Given the description of an element on the screen output the (x, y) to click on. 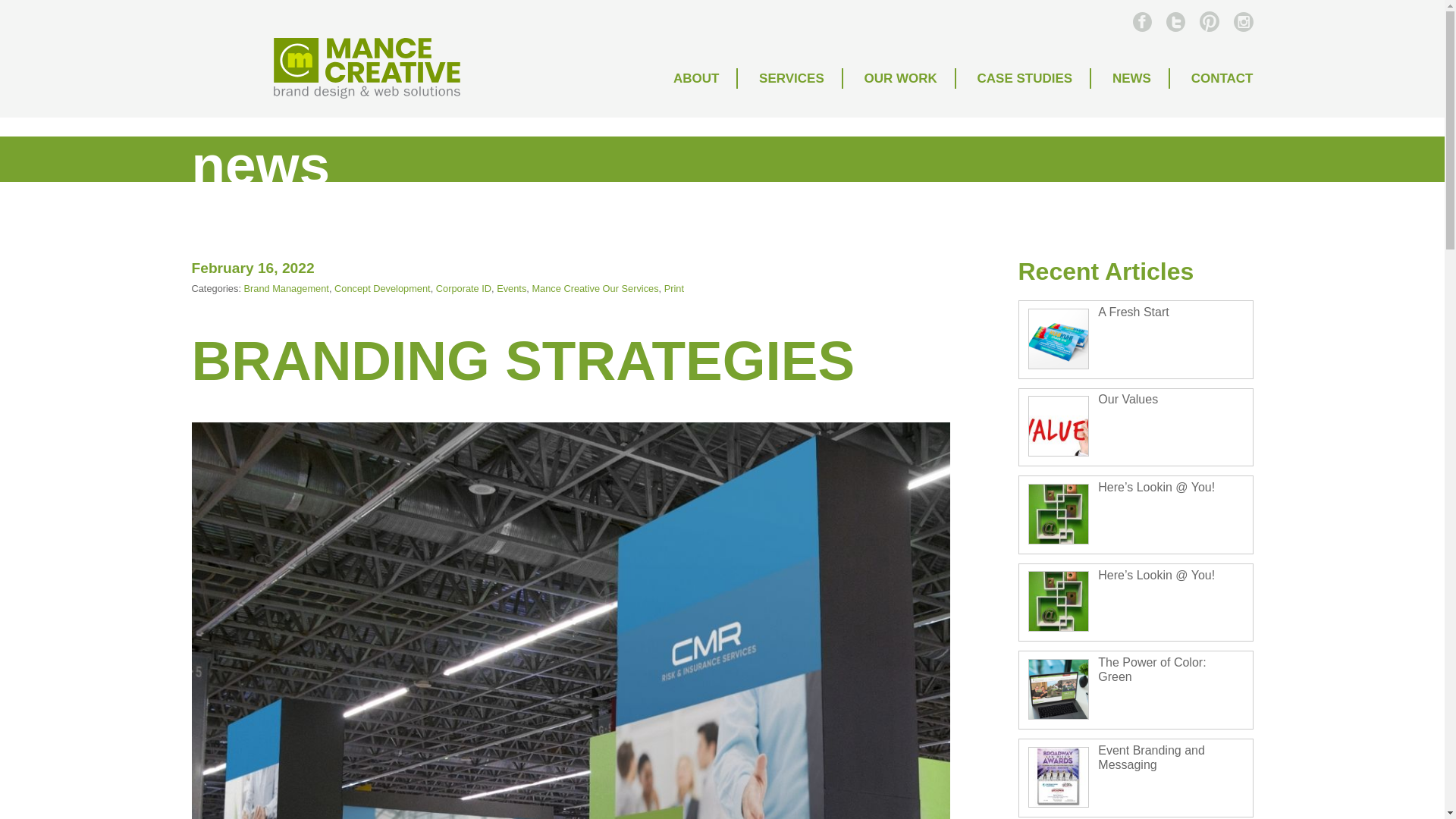
Event Branding and Messaging (1151, 757)
Events (510, 288)
Branding Strategies (522, 360)
The Power of Color: Green (1151, 669)
NEWS (1132, 77)
CONTACT (1213, 77)
Mance Creative Our Services (594, 288)
SERVICES (792, 77)
ABOUT (697, 77)
A Fresh Start (1133, 311)
Corporate ID (463, 288)
Our Values (1127, 399)
Print (673, 288)
Concept Development (382, 288)
Brand Management (286, 288)
